Given the description of an element on the screen output the (x, y) to click on. 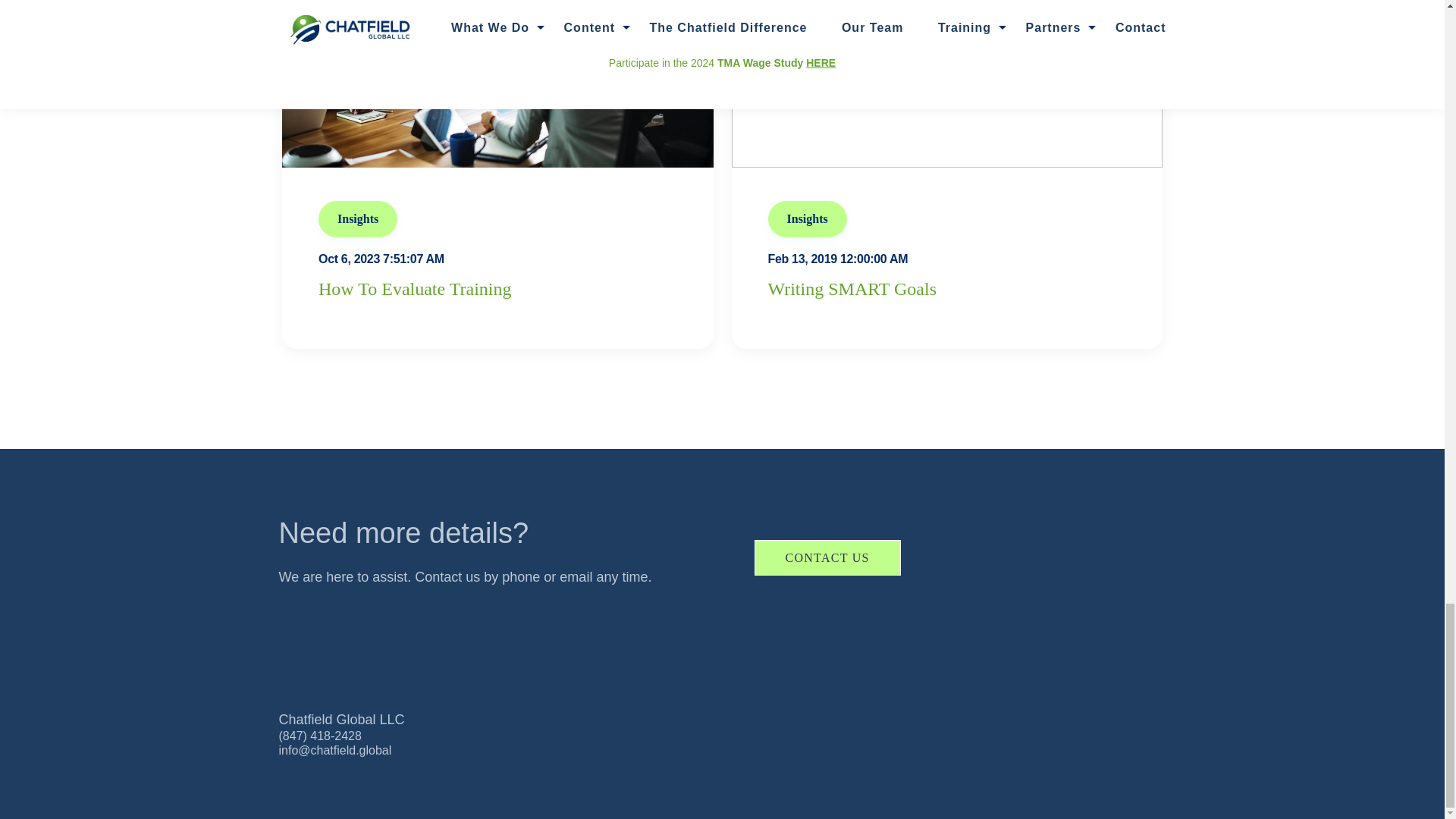
Insights (357, 218)
Writing SMART Goals (851, 288)
CONTACT US (826, 557)
Insights (806, 218)
How To Evaluate Training (415, 288)
